Given the description of an element on the screen output the (x, y) to click on. 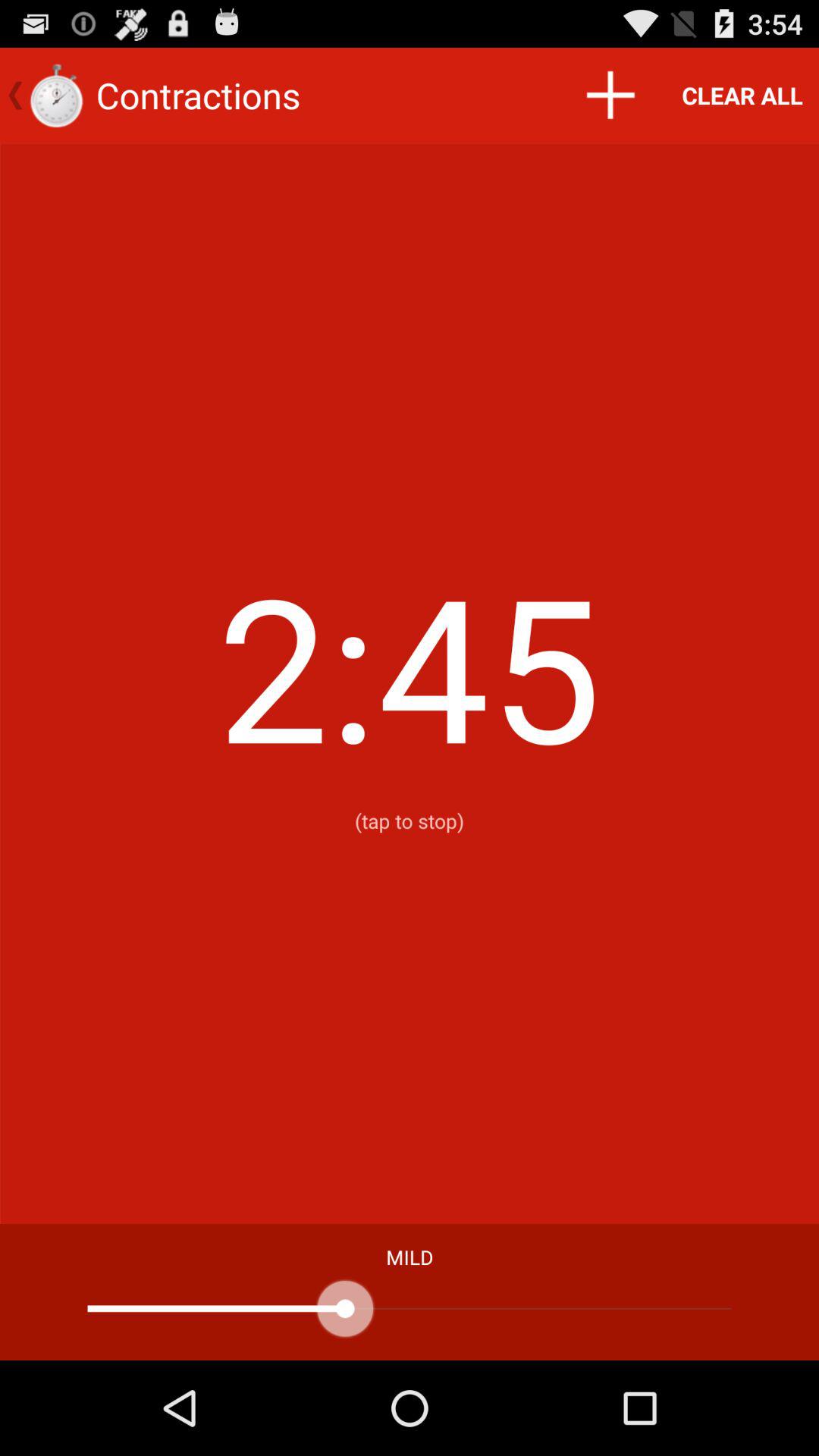
press icon to the right of the contractions item (610, 95)
